Given the description of an element on the screen output the (x, y) to click on. 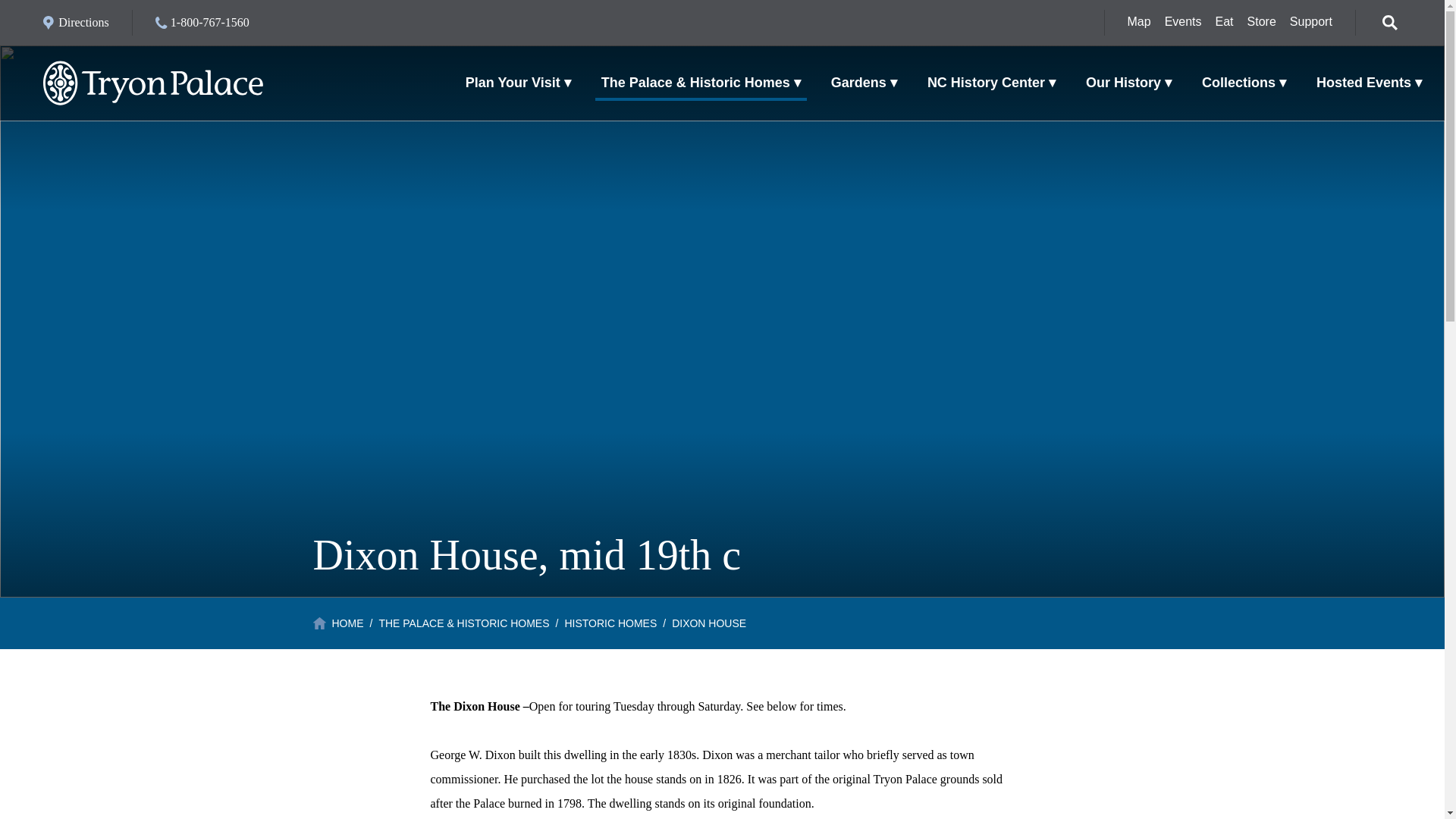
homepage (153, 82)
Plan Your Visit (517, 82)
